Given the description of an element on the screen output the (x, y) to click on. 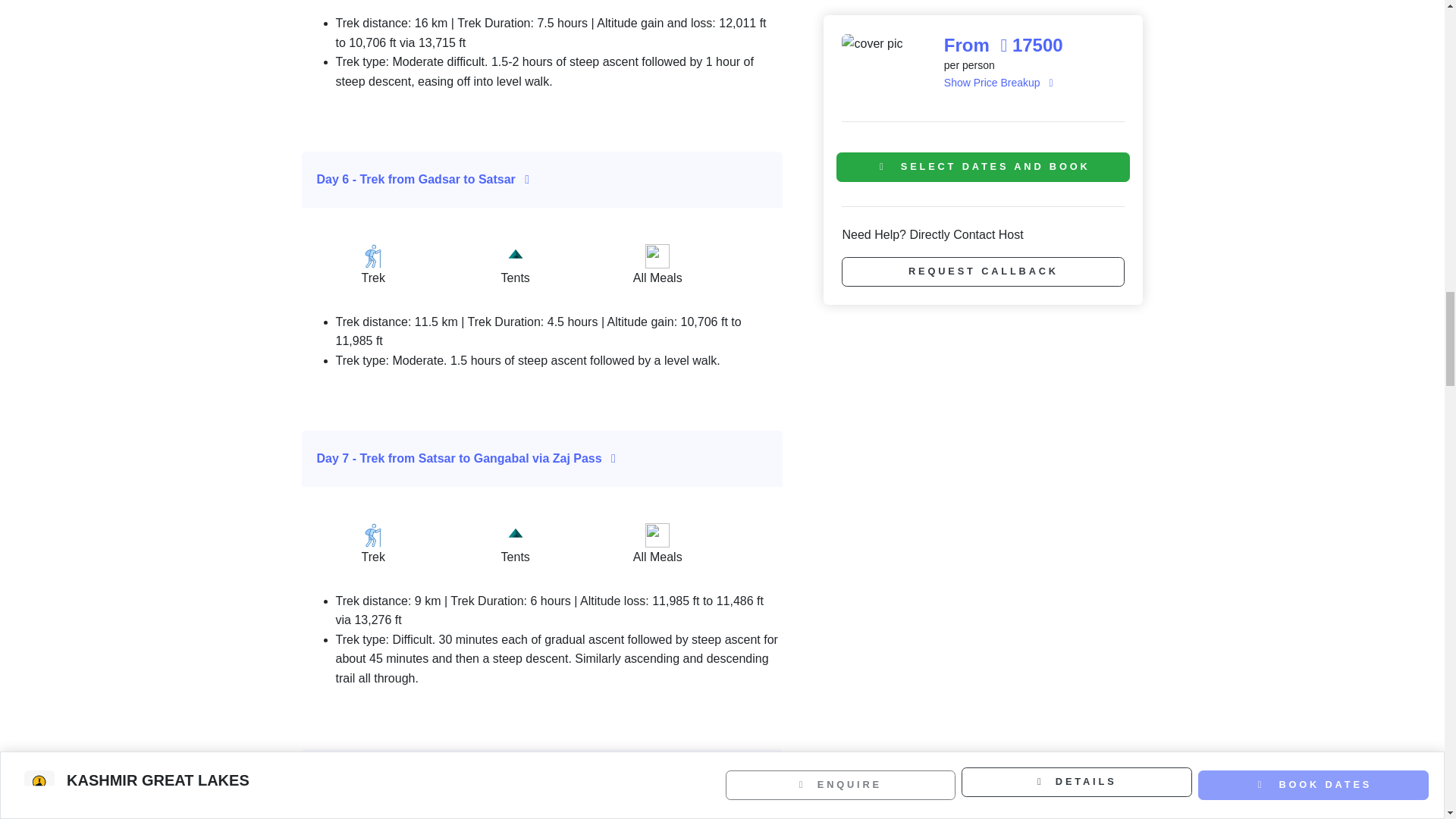
Day 8 - Trek from Gangabal to Naranag. Drive to Srinagar (542, 777)
Day 7 - Trek from Satsar to Gangabal via Zaj Pass (542, 458)
Day 6 - Trek from Gadsar to Satsar (542, 179)
